Given the description of an element on the screen output the (x, y) to click on. 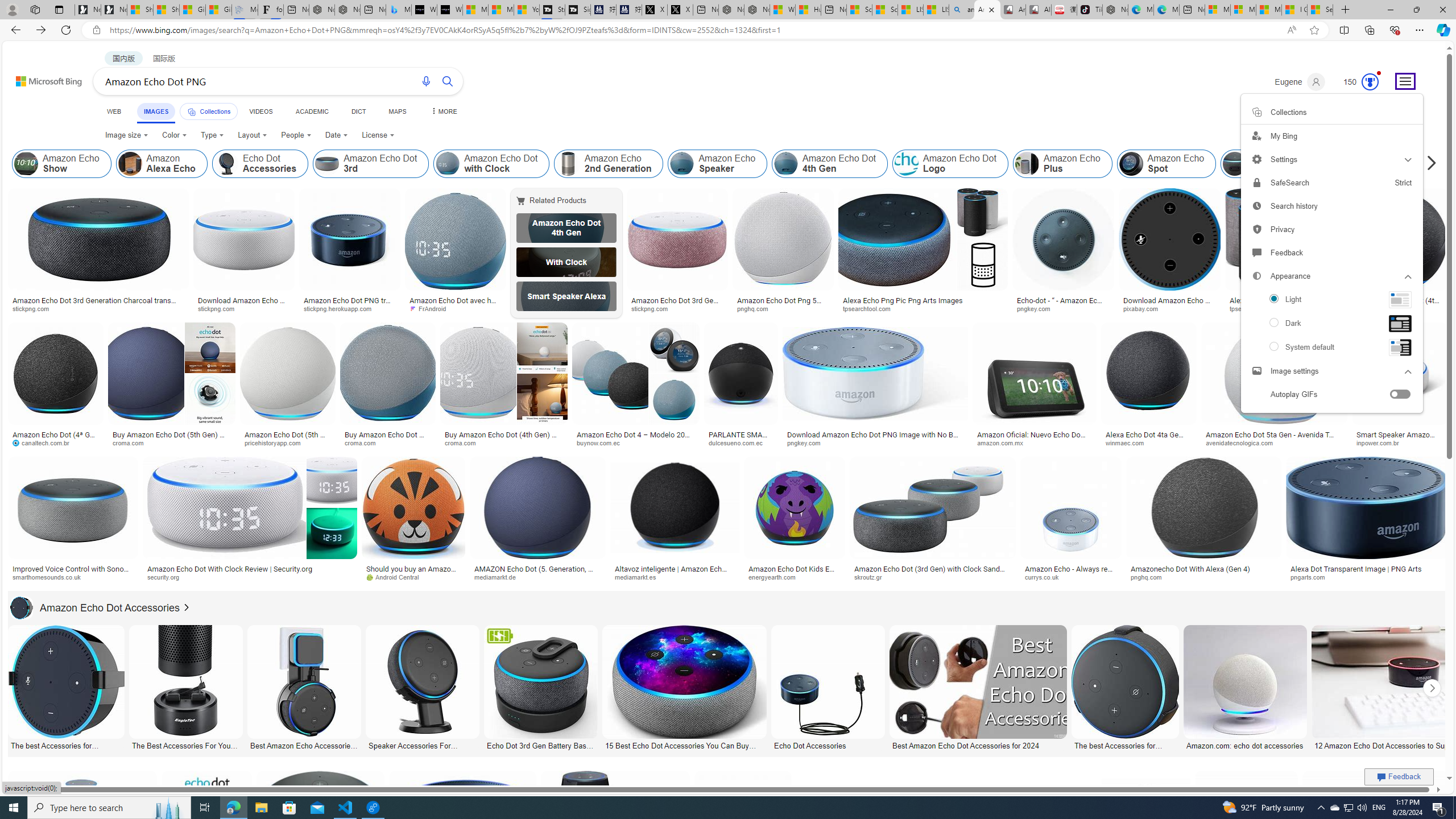
WEB (114, 111)
Color (173, 135)
System default (1331, 347)
Dropdown Menu (443, 111)
